Given the description of an element on the screen output the (x, y) to click on. 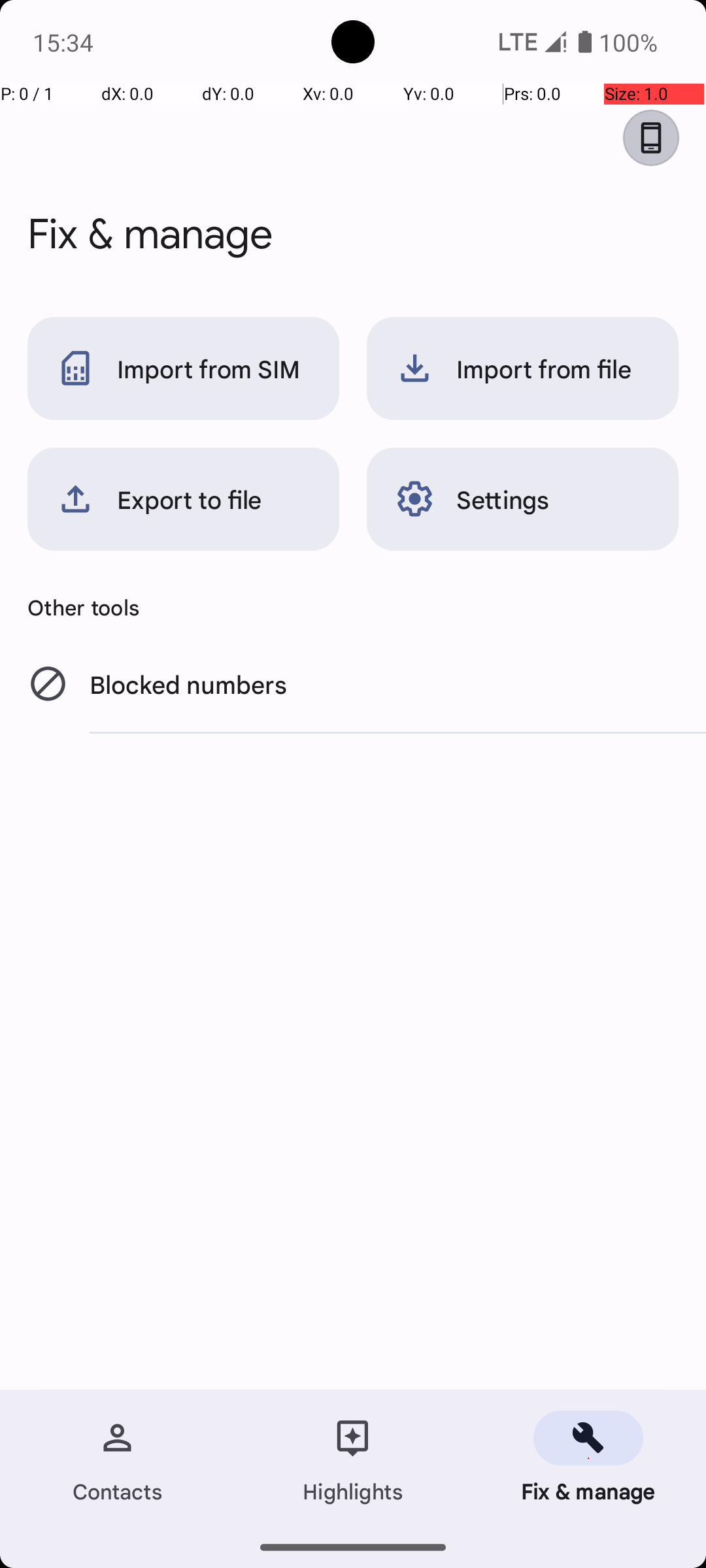
Other tools Element type: android.widget.TextView (353, 606)
Import from SIM Element type: android.widget.TextView (183, 368)
Import from file Element type: android.widget.TextView (522, 368)
Export to file Element type: android.widget.TextView (183, 498)
